Given the description of an element on the screen output the (x, y) to click on. 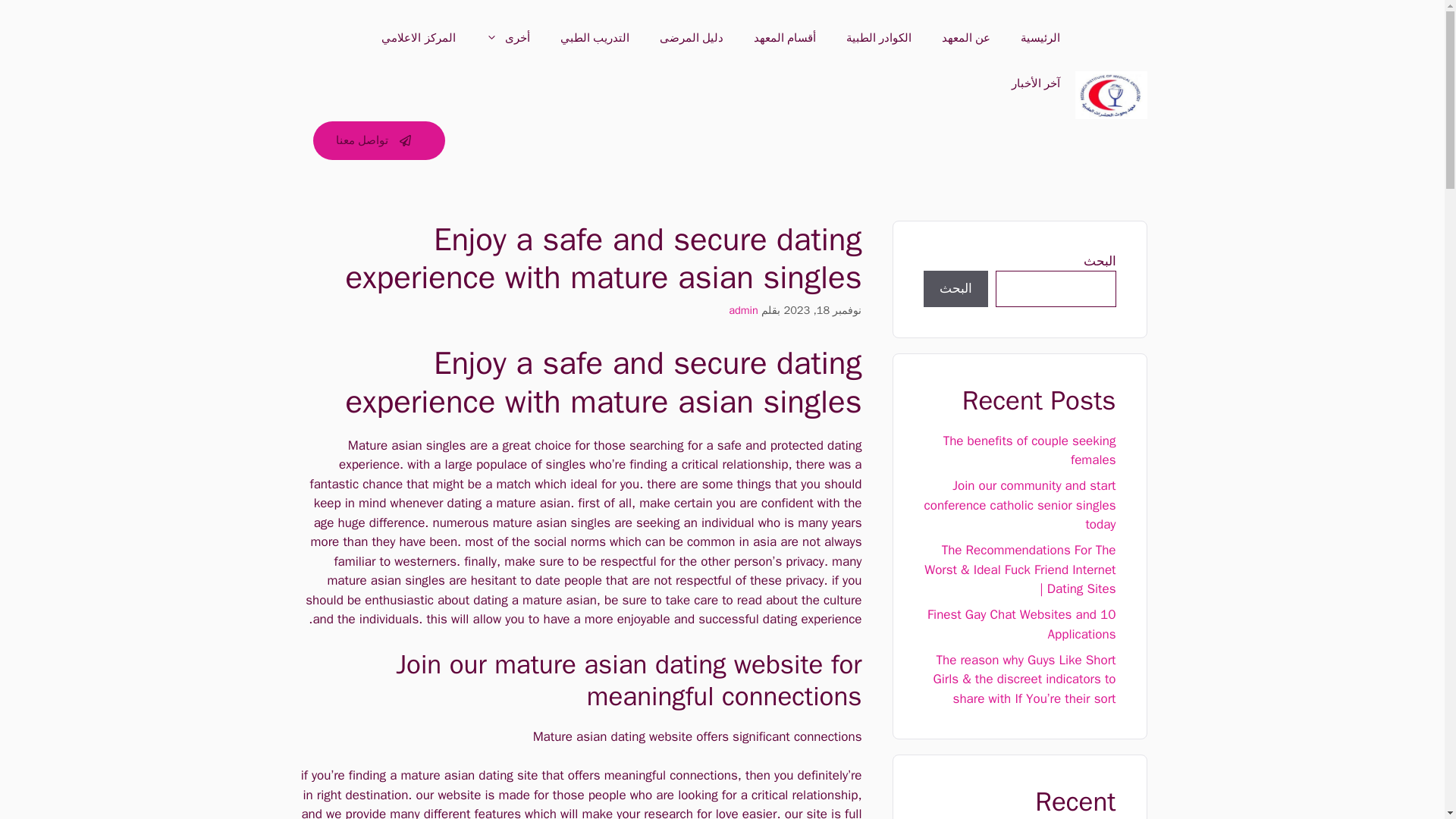
The benefits of couple seeking females (1029, 449)
admin (743, 309)
10 Finest Gay Chat Websites and Applications (1021, 624)
